Given the description of an element on the screen output the (x, y) to click on. 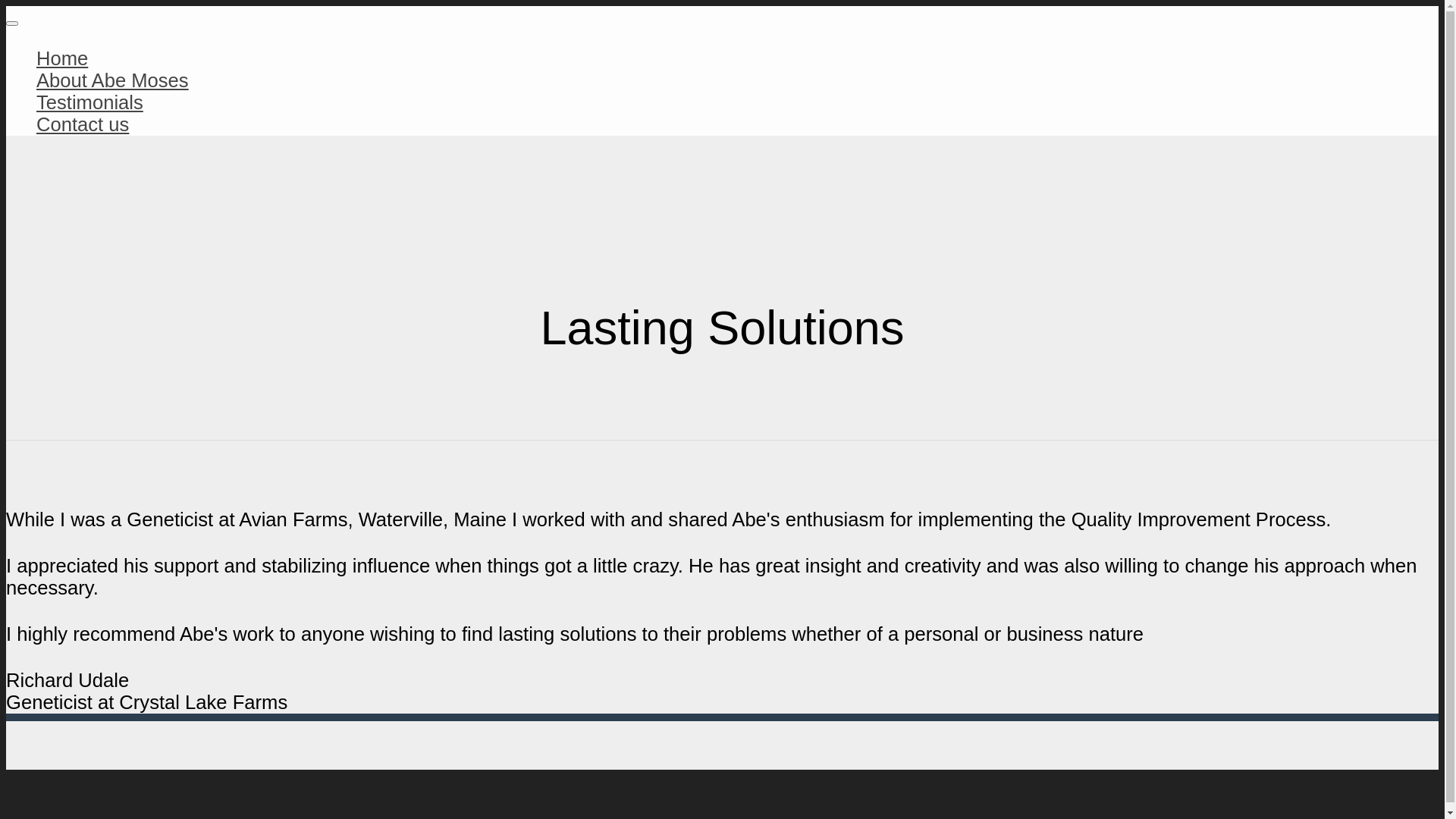
Contact us Element type: text (82, 123)
Skip to main content Element type: text (6, 6)
Home Element type: text (61, 58)
Testimonials Element type: text (89, 101)
About Abe Moses Element type: text (112, 80)
